Given the description of an element on the screen output the (x, y) to click on. 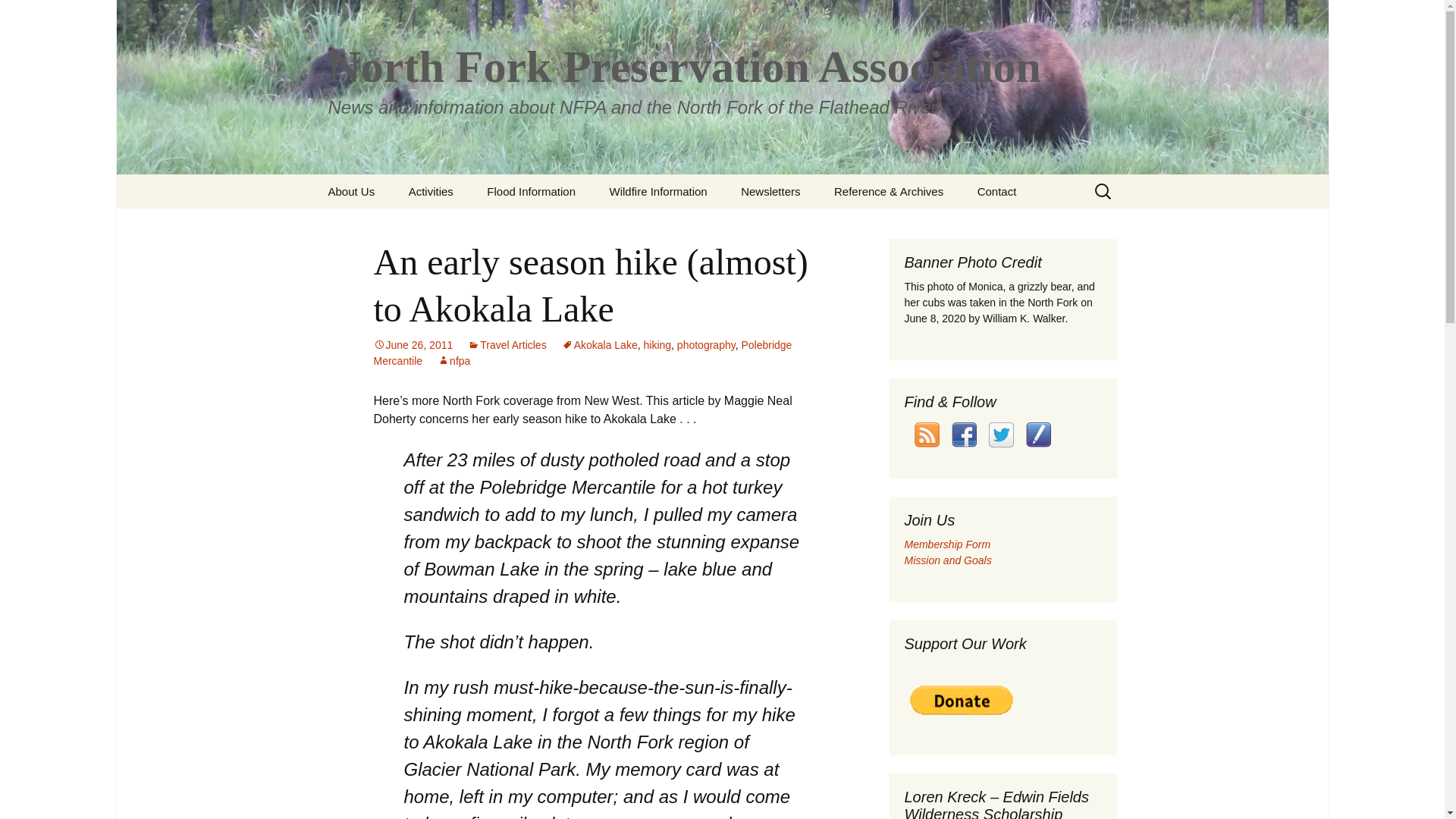
Contact (997, 191)
About Us (351, 191)
Link to our Facebook Page (962, 434)
Link to our Twitter Page (1000, 434)
Flood Information (531, 191)
Link to our Rss Page (926, 434)
NFPA Organizational Documents (894, 230)
View all posts by nfpa (454, 360)
Wildfire Information (658, 191)
Activities (430, 191)
Newsletters (770, 191)
Polebridge Mercantile (582, 352)
photography (706, 345)
